Given the description of an element on the screen output the (x, y) to click on. 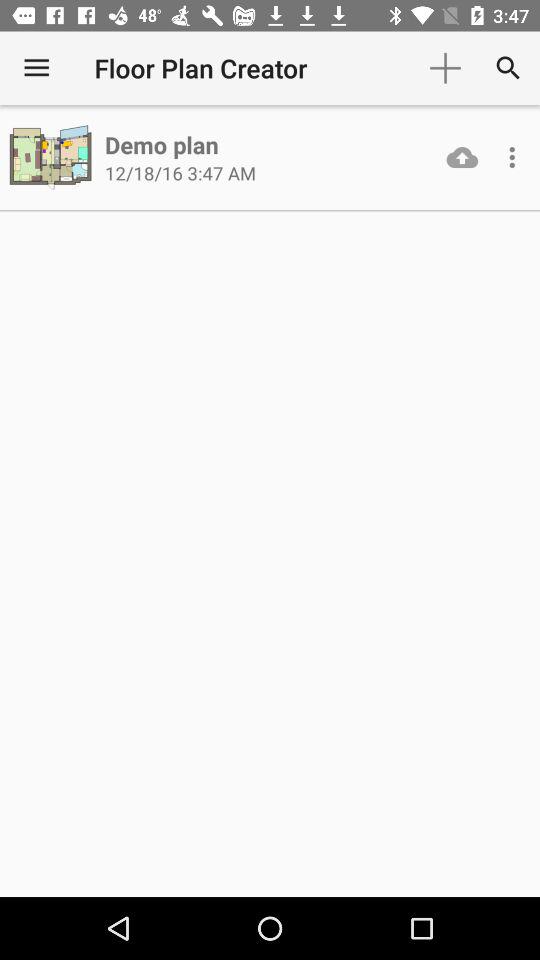
select item above the 12 18 16 item (161, 144)
